Given the description of an element on the screen output the (x, y) to click on. 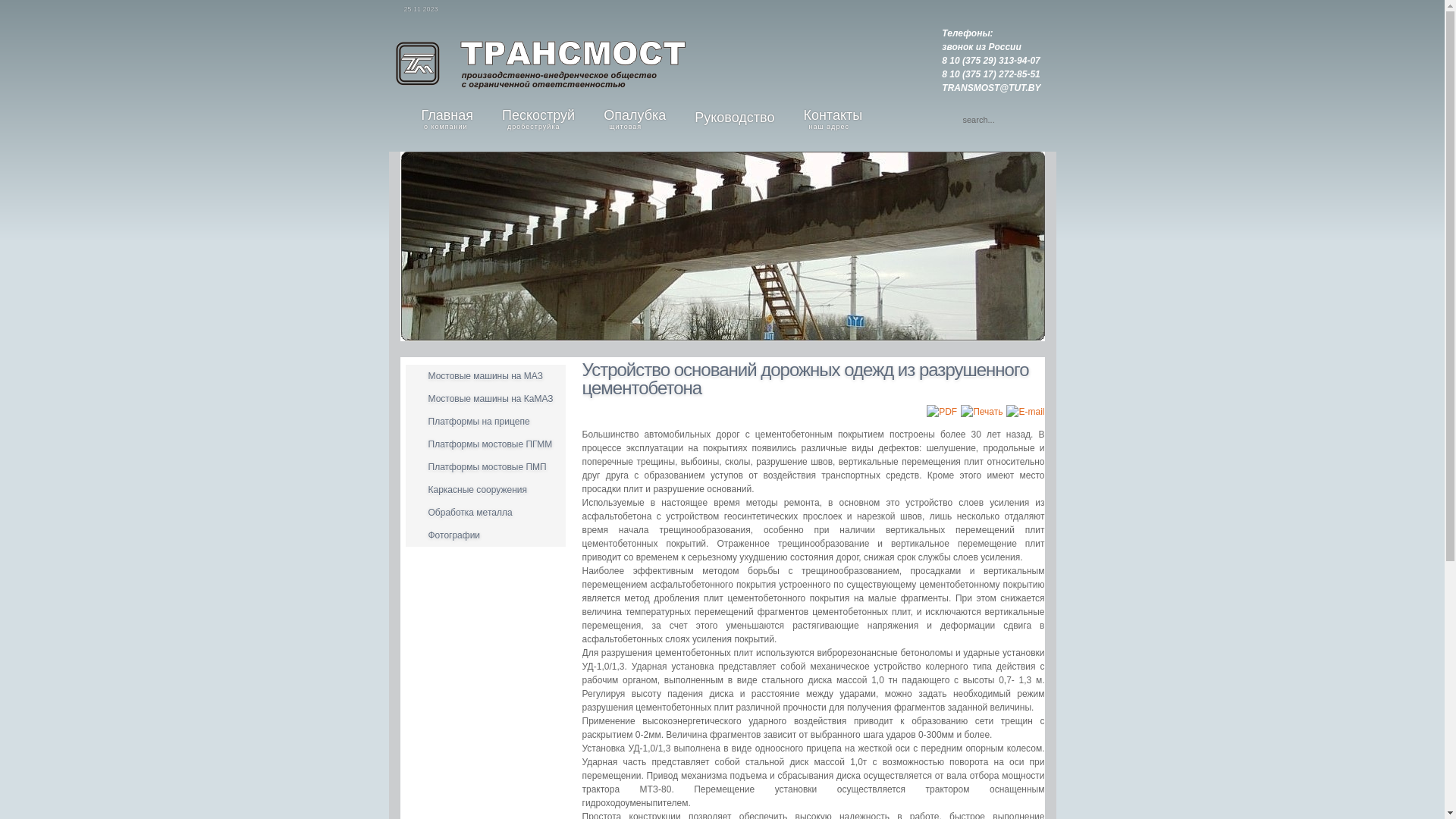
Reset Element type: text (6, 6)
PDF Element type: hover (941, 411)
E-mail Element type: hover (1025, 411)
Next slide Element type: hover (1019, 246)
Search Element type: text (956, 118)
Previous slide Element type: hover (424, 246)
